Given the description of an element on the screen output the (x, y) to click on. 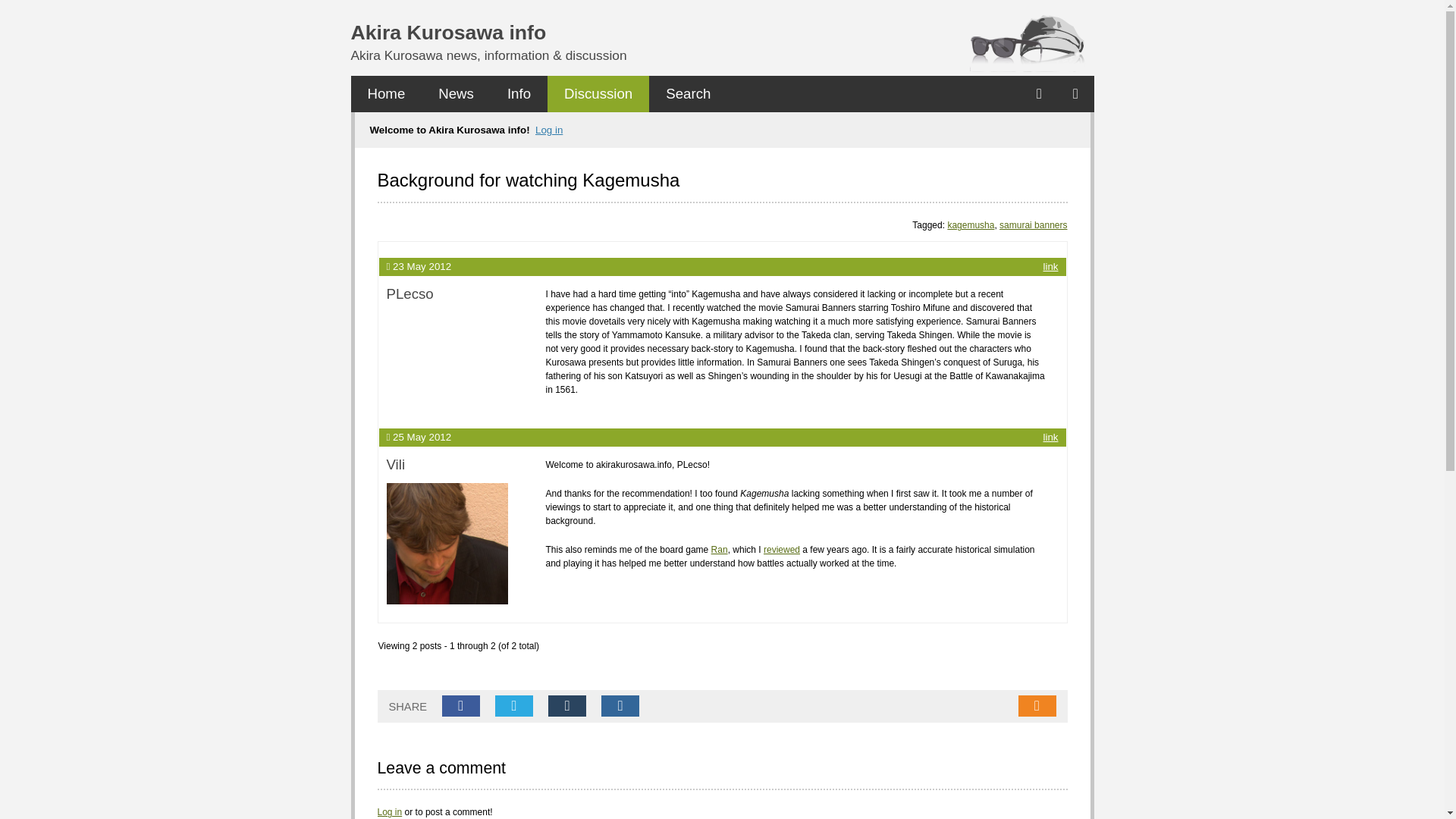
News (456, 94)
Share on Tumblr (567, 705)
Home (386, 94)
kagemusha (970, 225)
Log in (390, 811)
Discussion (598, 94)
reviewed (780, 549)
Akira Kurosawa Discussion (598, 94)
Search (687, 94)
Akira Kurosawa News (456, 94)
